Given the description of an element on the screen output the (x, y) to click on. 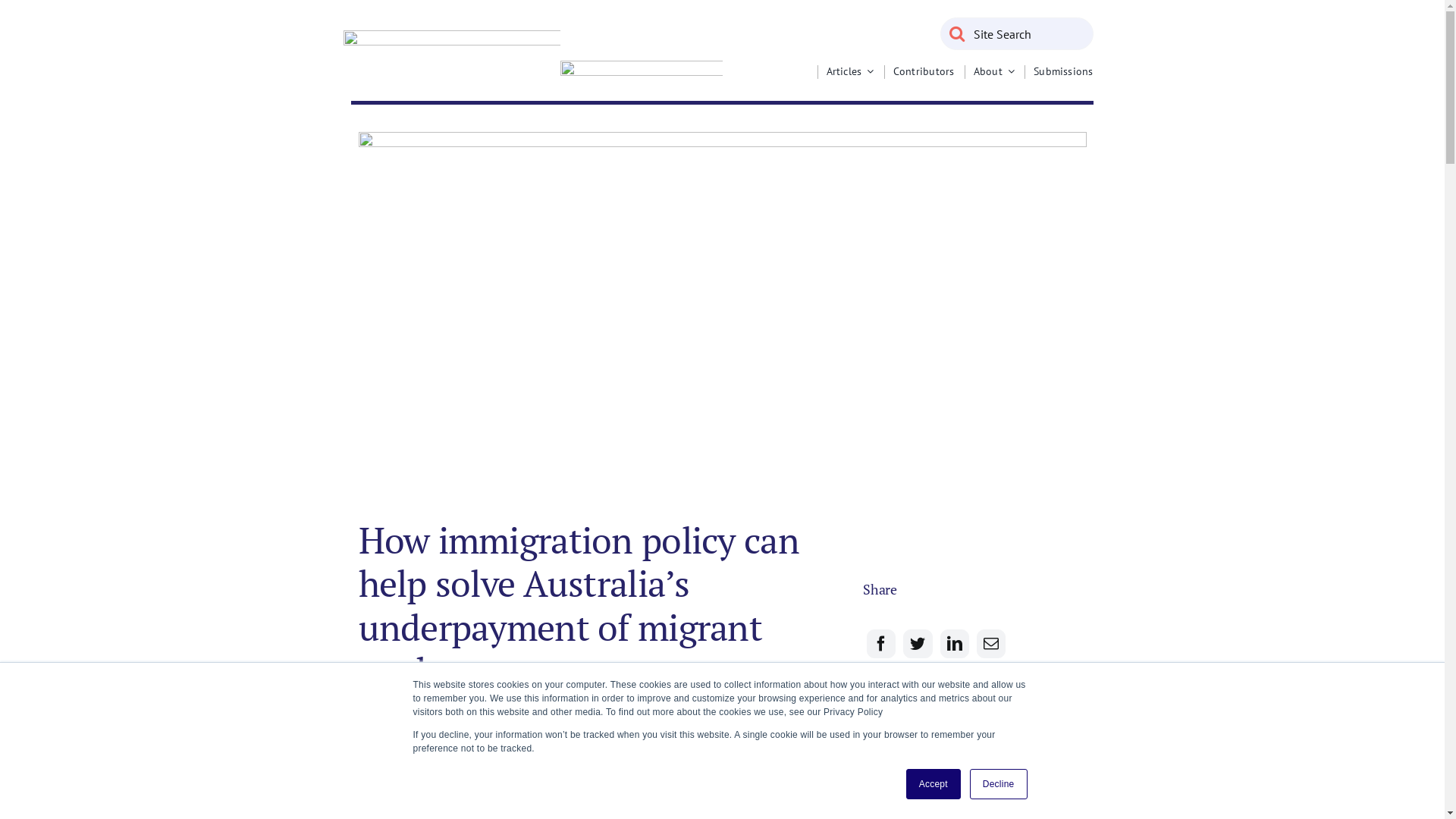
Submissions Element type: text (1063, 71)
Email Element type: hover (990, 643)
Twitter Element type: hover (917, 643)
Contributors Element type: text (923, 71)
About Element type: text (993, 71)
Facebook Element type: hover (880, 643)
LinkedIn Element type: hover (954, 643)
Accept Element type: text (933, 783)
View Larger Image Element type: text (721, 313)
Decline Element type: text (998, 783)
Articles Element type: text (850, 71)
ThePolicymaker-tagline Element type: hover (641, 72)
